Given the description of an element on the screen output the (x, y) to click on. 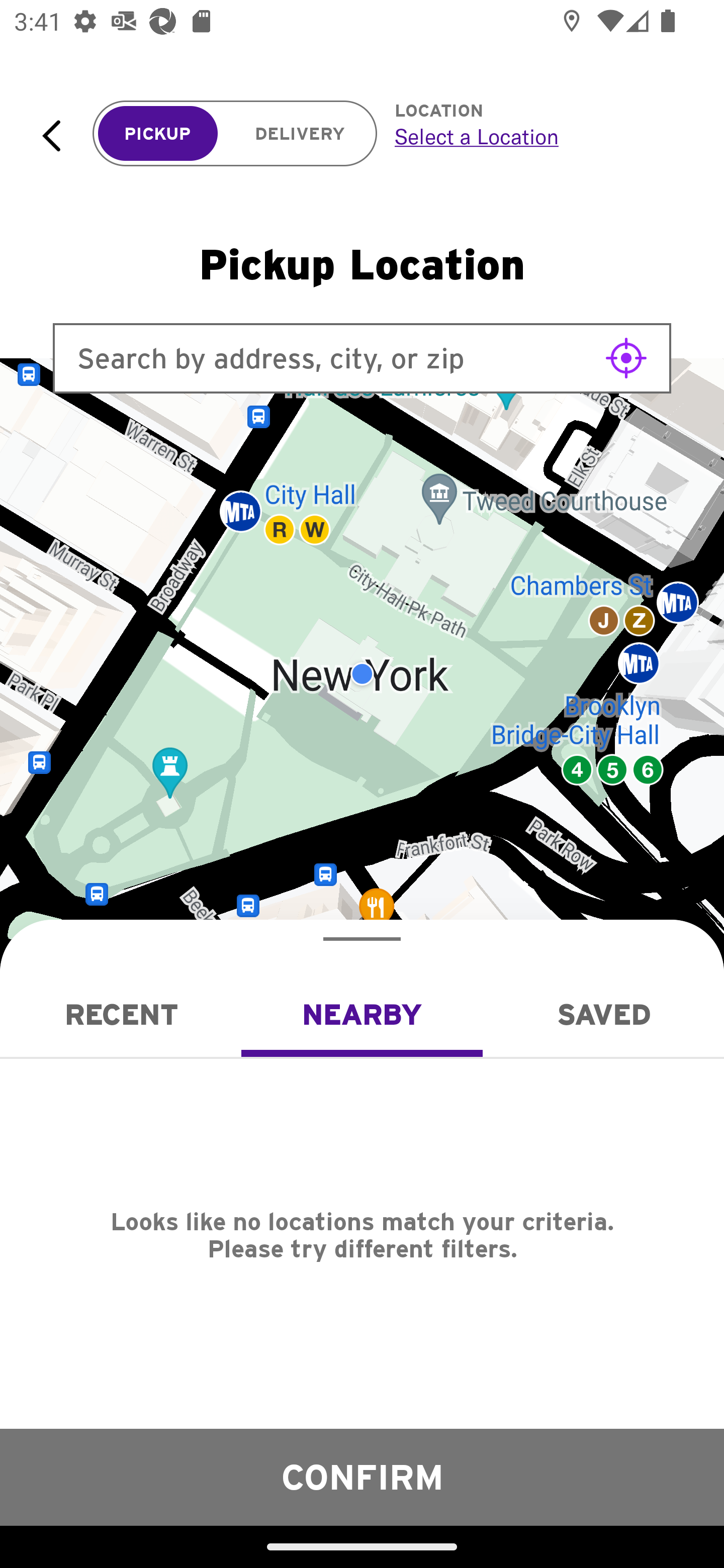
PICKUP (157, 133)
DELIVERY (299, 133)
Select a Location (536, 136)
Search by address, city, or zip (361, 358)
Google Map (362, 674)
Recent RECENT (120, 1014)
Saved SAVED (603, 1014)
CONFIRM (362, 1476)
